Given the description of an element on the screen output the (x, y) to click on. 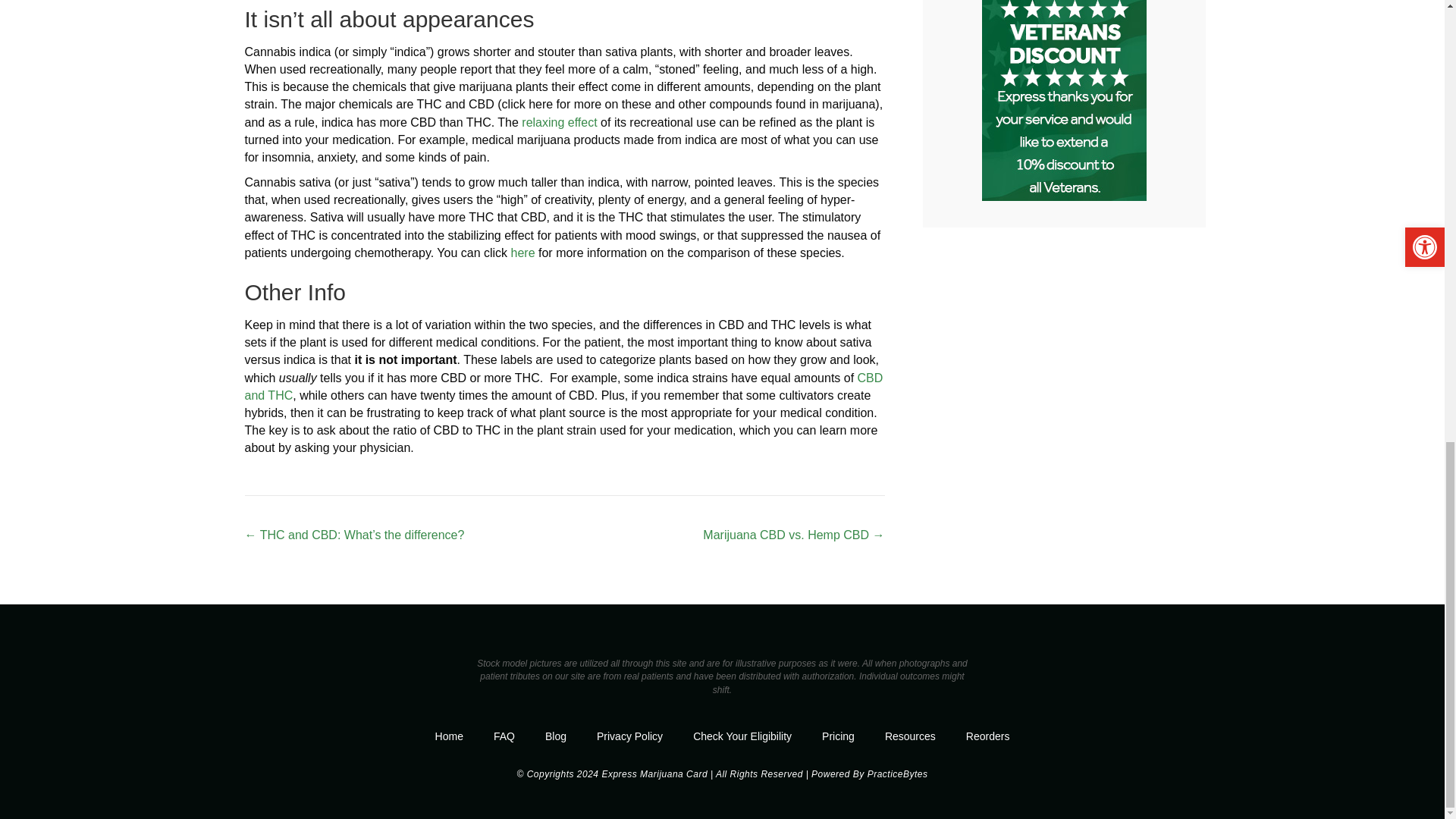
vetSideBar (1063, 100)
